Given the description of an element on the screen output the (x, y) to click on. 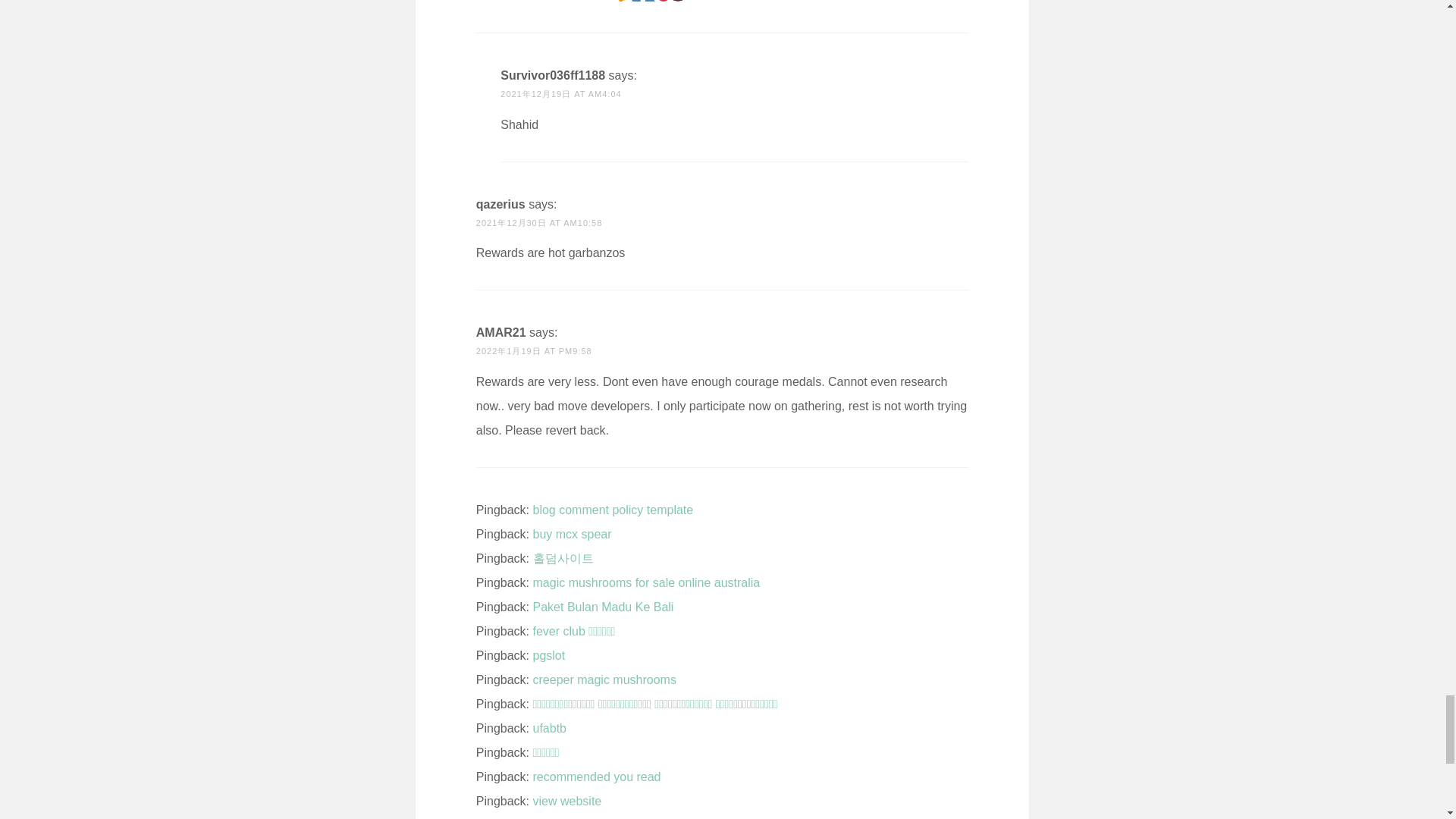
Paket Bulan Madu Ke Bali (603, 606)
blog comment policy template (613, 509)
magic mushrooms for sale online australia (646, 582)
buy mcx spear (571, 533)
